Given the description of an element on the screen output the (x, y) to click on. 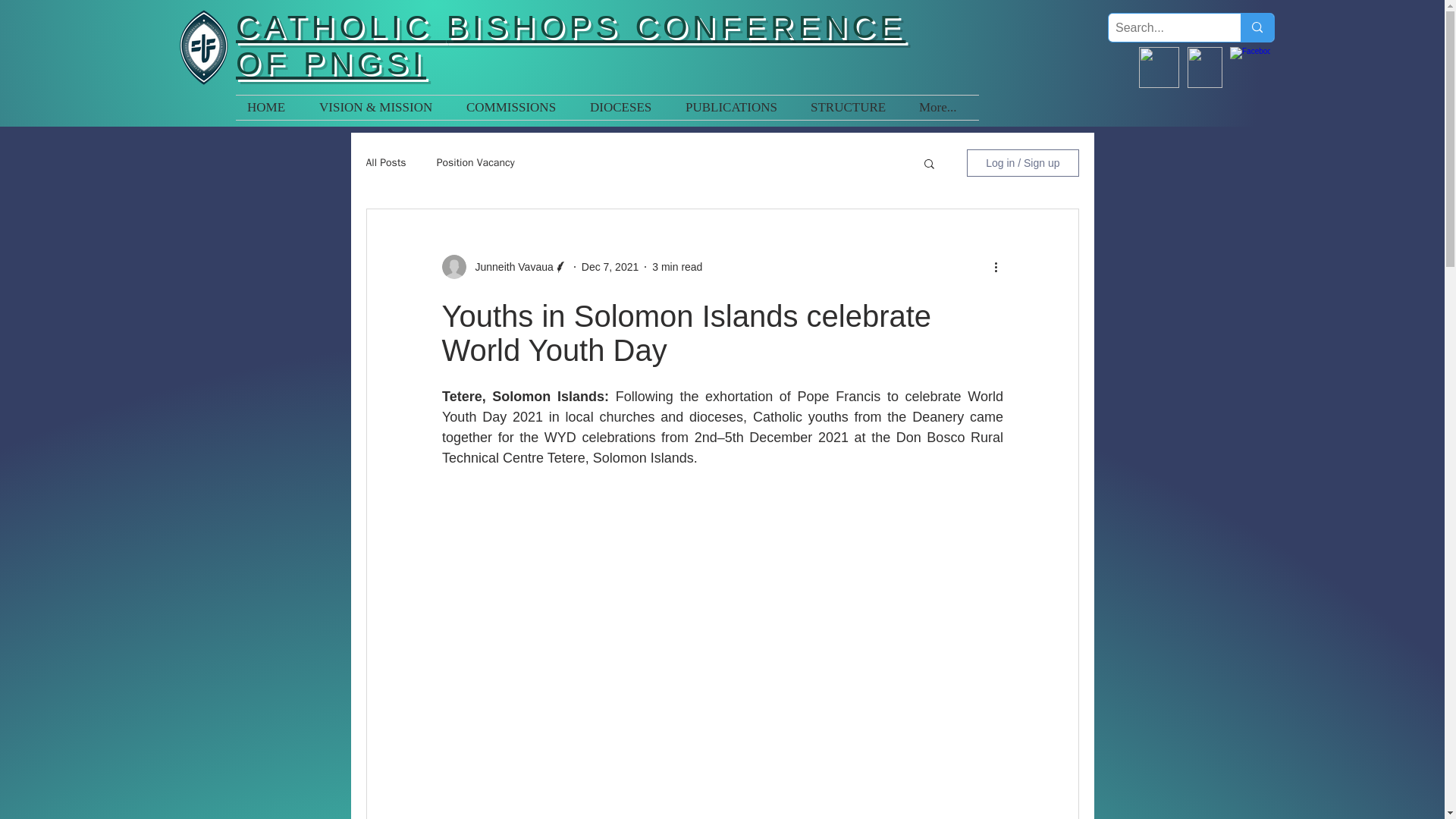
holyseelogoOrg.png (1205, 66)
3 min read (676, 266)
COMMISSIONS (516, 107)
Junneith Vavaua (509, 267)
DIOCESES (626, 107)
vaticanNewsLogoEdit.png (1158, 66)
Dec 7, 2021 (609, 266)
HOME (271, 107)
CATHOLIC BISHOPS CONFERENCE OF PNGSI (570, 45)
